Given the description of an element on the screen output the (x, y) to click on. 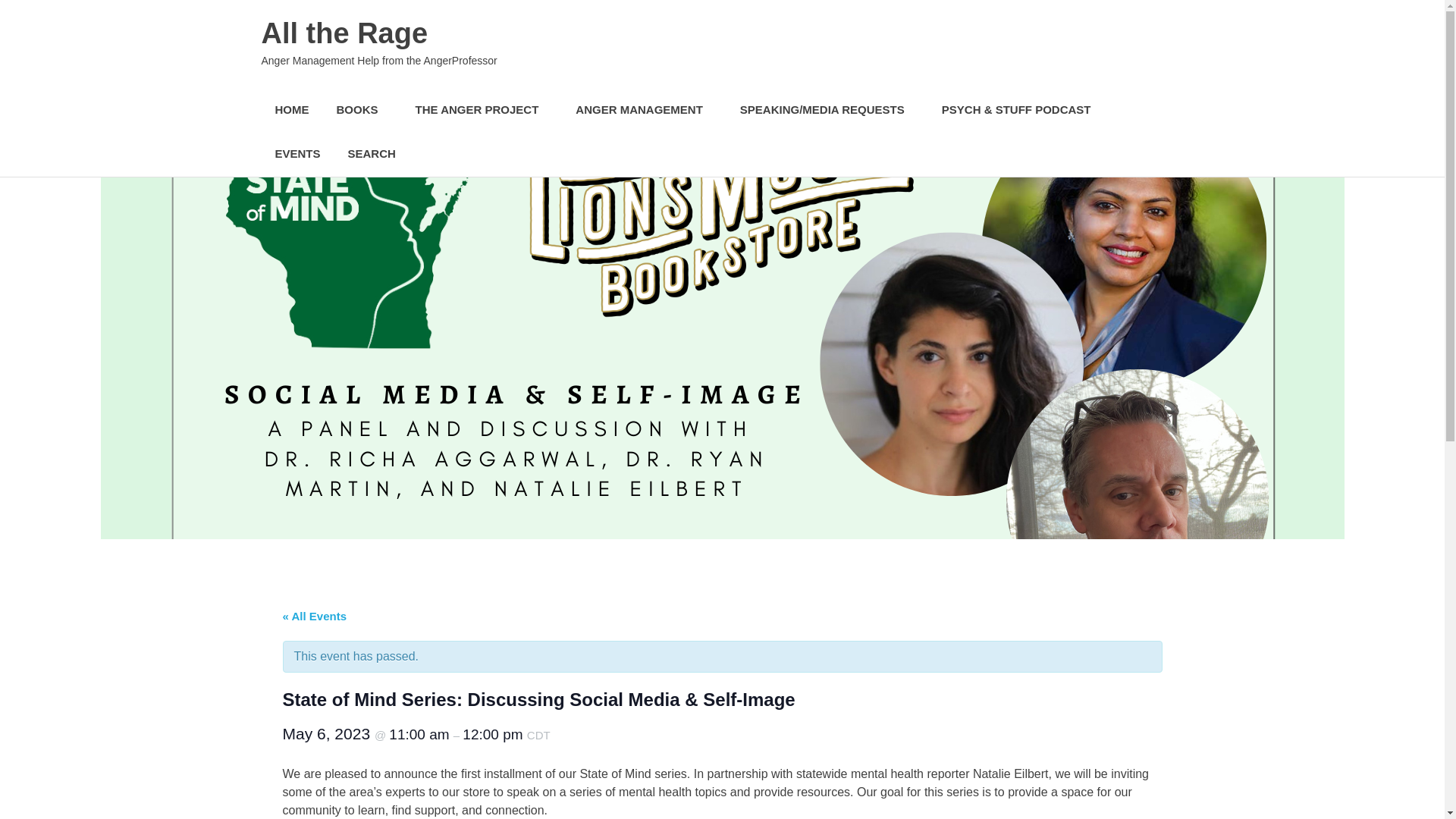
THE ANGER PROJECT (481, 109)
All the Rage (344, 33)
BOOKS (362, 109)
EVENTS (296, 153)
ANGER MANAGEMENT (644, 109)
HOME (290, 109)
